Given the description of an element on the screen output the (x, y) to click on. 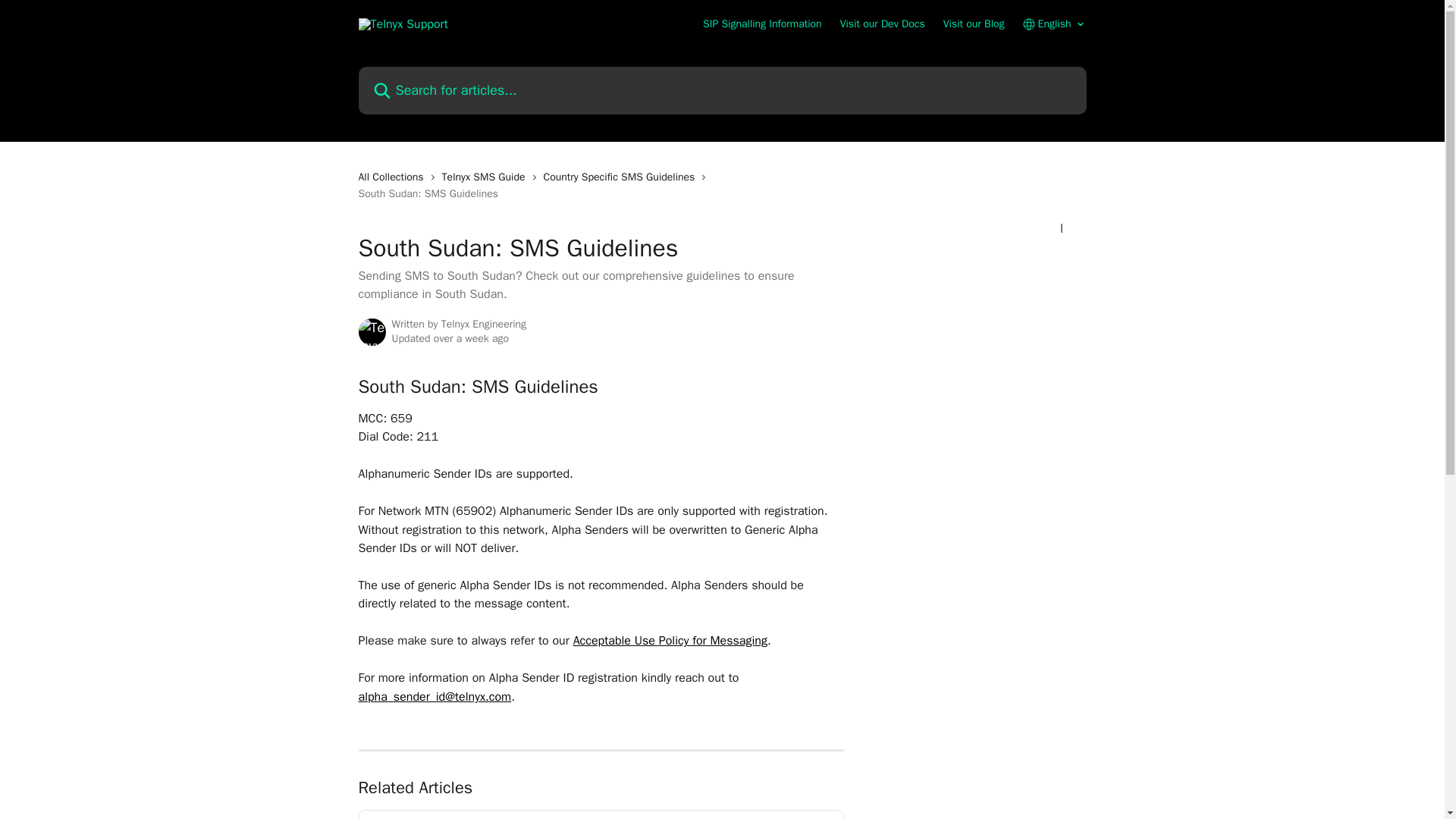
Visit our Blog (973, 23)
All Collections (393, 176)
Telnyx SMS Guide (486, 176)
SIP Signalling Information (762, 23)
Visit our Dev Docs (882, 23)
Acceptable Use Policy for Messaging (670, 640)
Country Specific SMS Guidelines (621, 176)
